Given the description of an element on the screen output the (x, y) to click on. 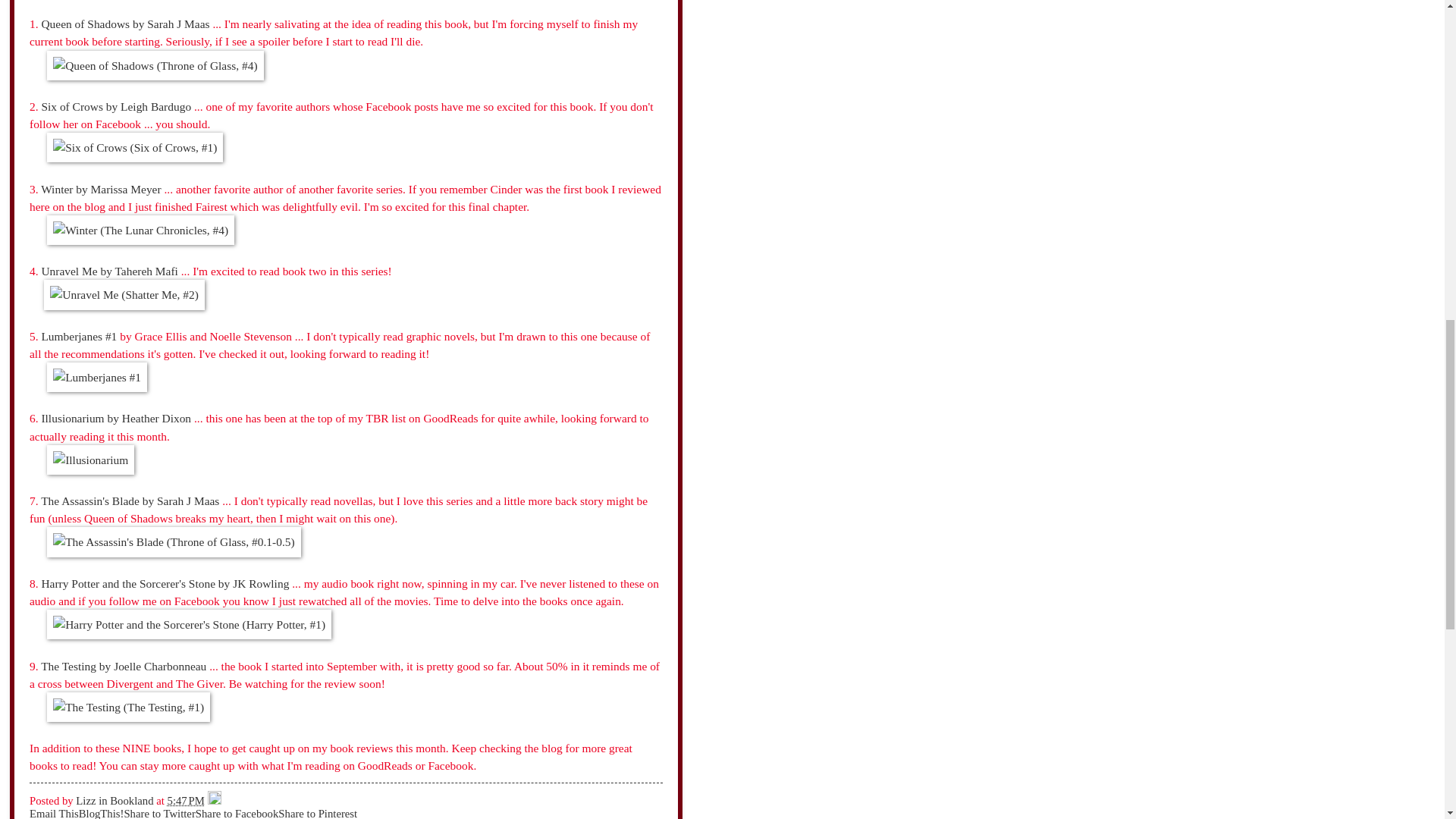
The Testing by Joelle Charbonneau (123, 666)
Unravel Me by Tahereh Mafi (108, 270)
Share to Twitter (159, 813)
Edit Post (214, 800)
Email This (53, 813)
Harry Potter and the Sorcerer's Stone by JK Rowling (164, 583)
Winter by Marissa Meyer (100, 188)
author profile (115, 800)
Queen of Shadows by Sarah J Maas (124, 23)
Six of Crows by Leigh Bardugo (115, 106)
